Given the description of an element on the screen output the (x, y) to click on. 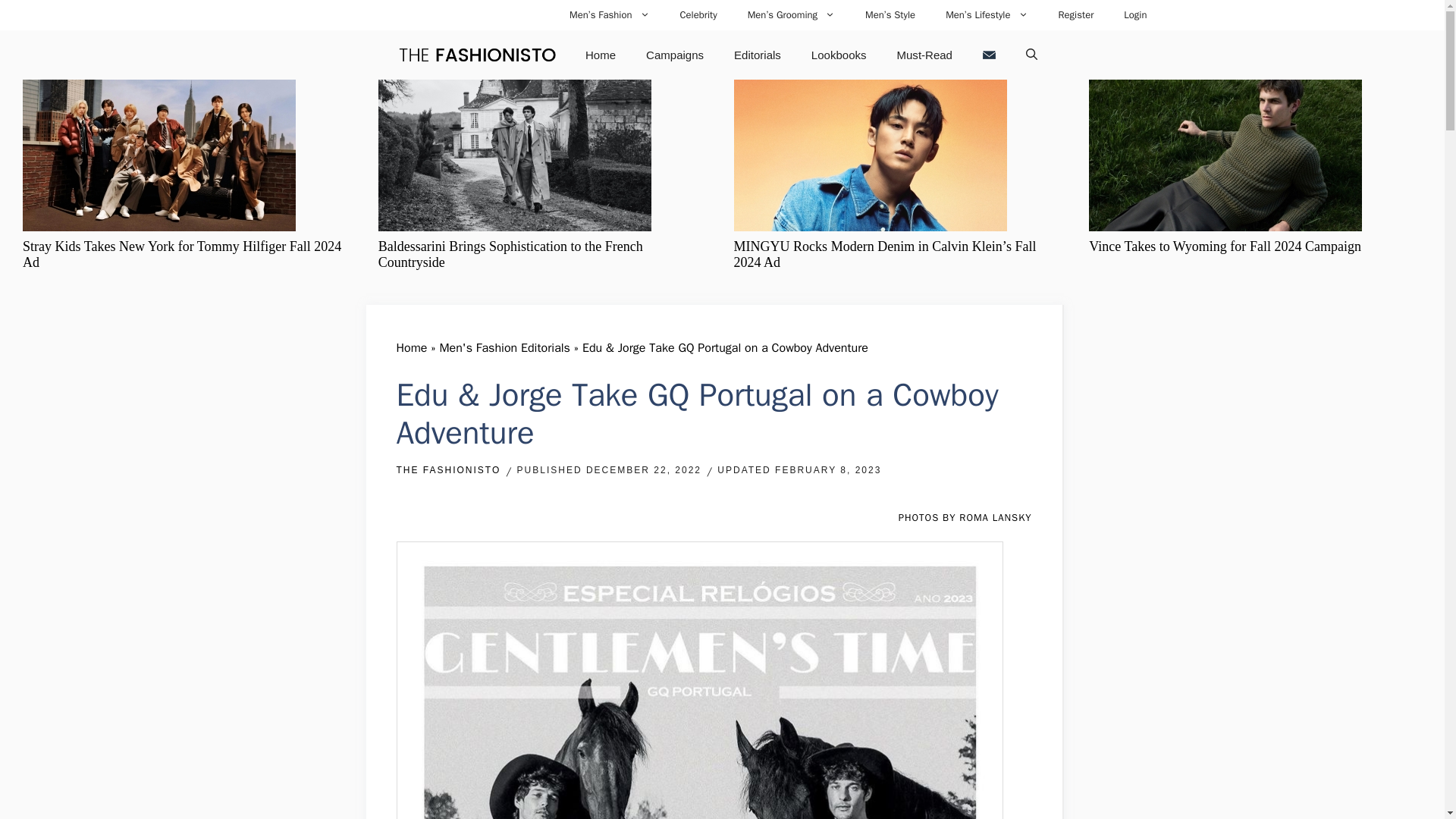
Fashion Advertising Campaigns (674, 53)
Campaigns (674, 53)
Baldessarini Brings Sophistication to the French Countryside (510, 254)
Home (600, 53)
Celebrity (698, 15)
The Fashionisto (476, 54)
Fashion Editorials (757, 53)
Must-Read (925, 53)
Editorials (757, 53)
Lookbooks (839, 53)
